Given the description of an element on the screen output the (x, y) to click on. 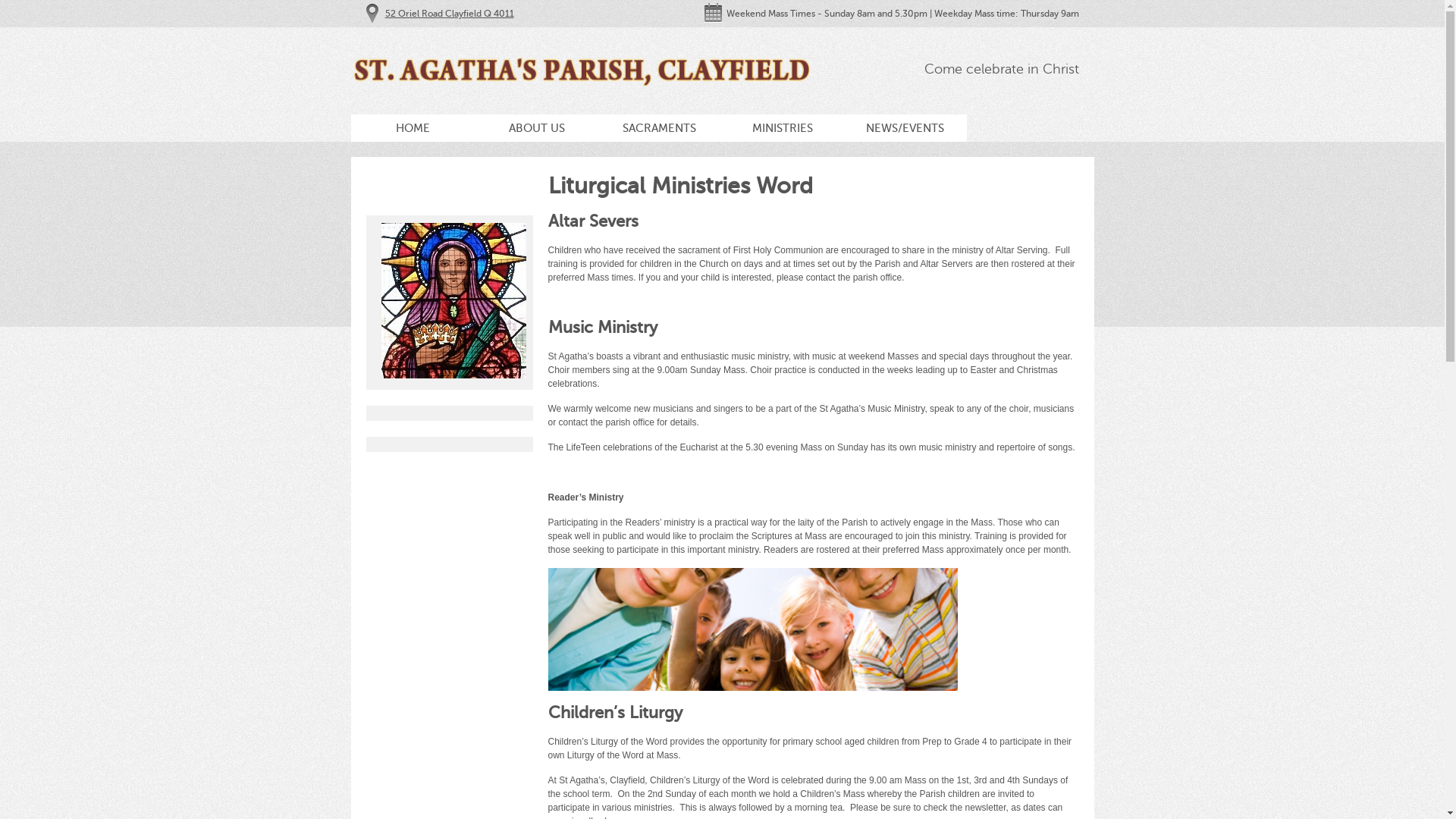
ABOUT US Element type: text (535, 127)
HOME Element type: text (412, 127)
SACRAMENTS Element type: text (658, 127)
MINISTRIES Element type: text (781, 127)
52 Oriel Road Clayfield Q 4011 Element type: text (449, 13)
NEWS/EVENTS Element type: text (904, 127)
